Given the description of an element on the screen output the (x, y) to click on. 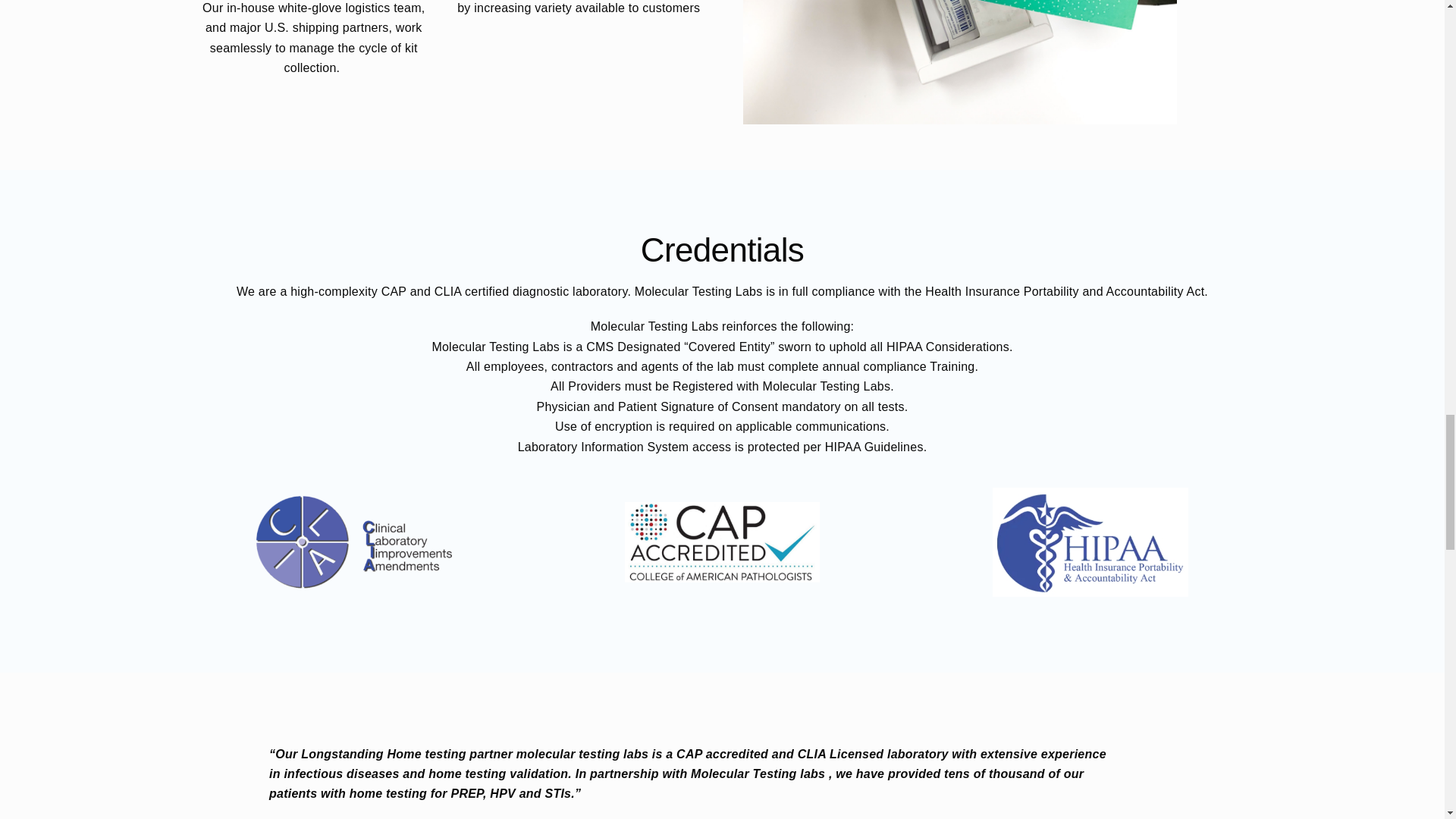
CAP Accredited (722, 542)
CLIA (353, 542)
HIPAA (1090, 542)
